Given the description of an element on the screen output the (x, y) to click on. 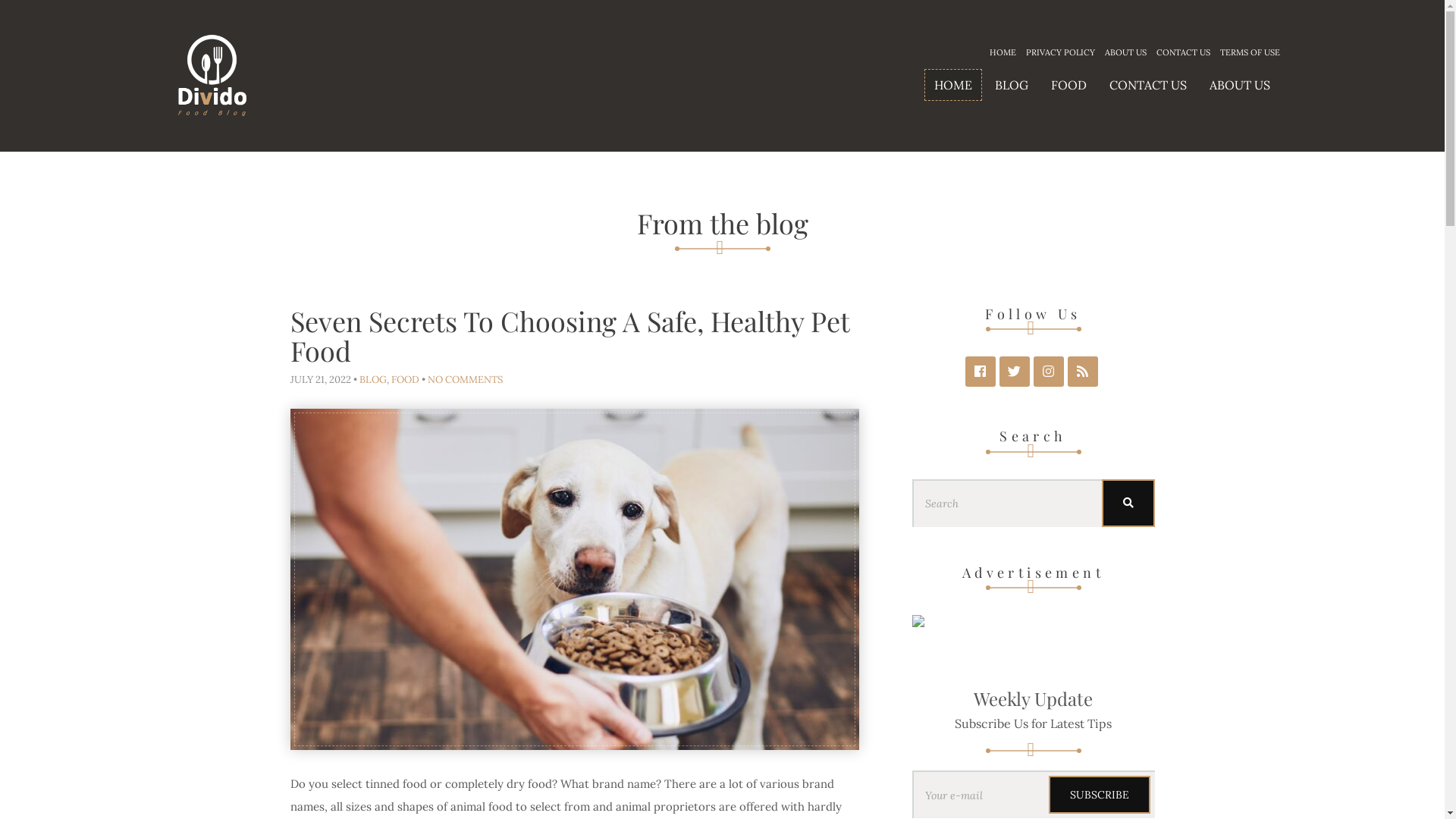
Seven Secrets To Choosing A Safe, Healthy Pet Food Element type: text (568, 335)
HOME Element type: text (952, 84)
FOOD Element type: text (1067, 84)
TERMS OF USE Element type: text (1249, 52)
BLOG Element type: text (372, 379)
PRIVACY POLICY Element type: text (1059, 52)
HOME Element type: text (1001, 52)
ABOUT US Element type: text (1124, 52)
NO COMMENTS Element type: text (464, 379)
ABOUT US Element type: text (1239, 84)
BLOG Element type: text (1010, 84)
Subscribe Element type: text (1098, 794)
FOOD Element type: text (405, 379)
CONTACT US Element type: text (1182, 52)
CONTACT US Element type: text (1147, 84)
